Given the description of an element on the screen output the (x, y) to click on. 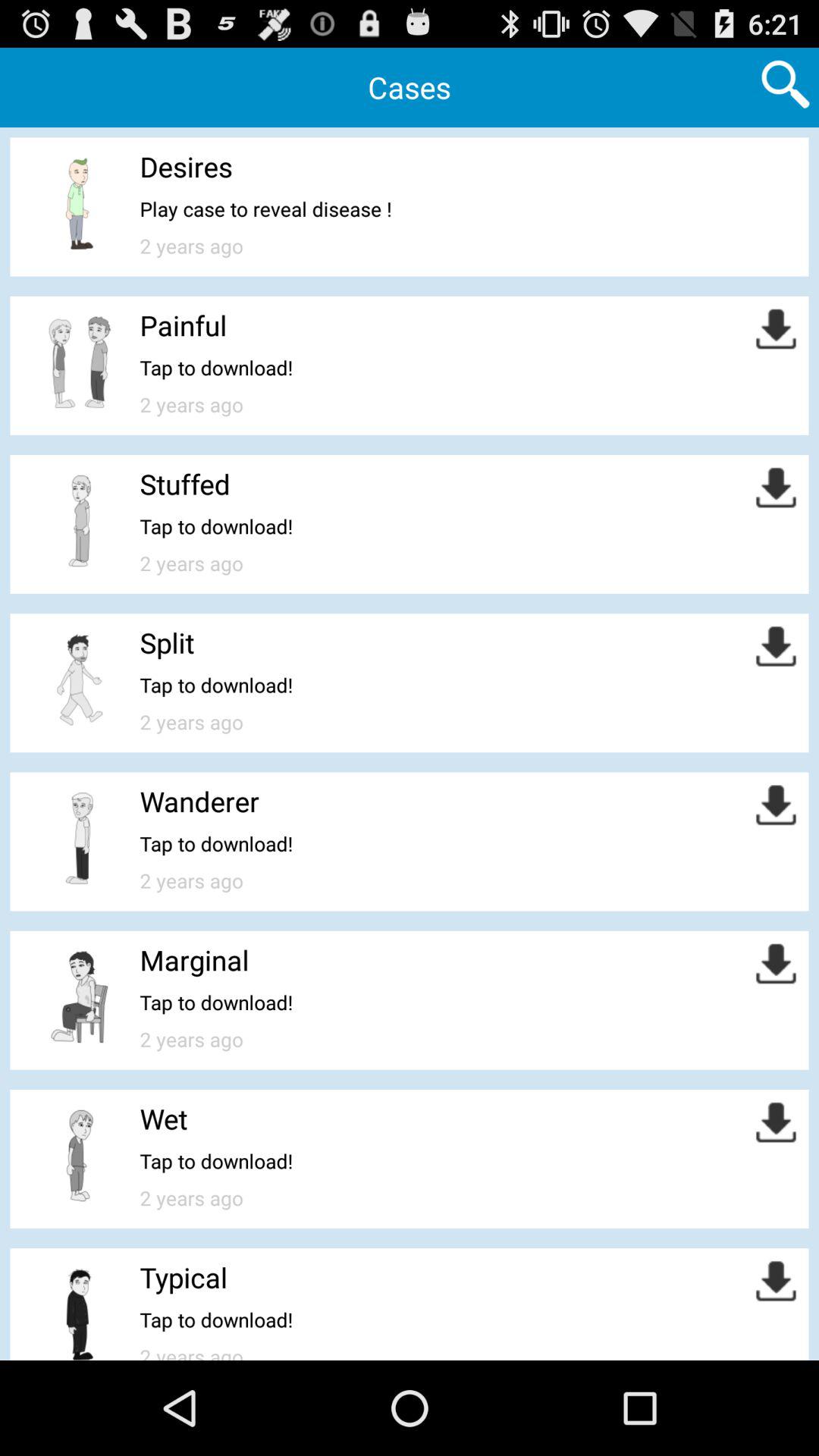
tap the painful icon (182, 325)
